Given the description of an element on the screen output the (x, y) to click on. 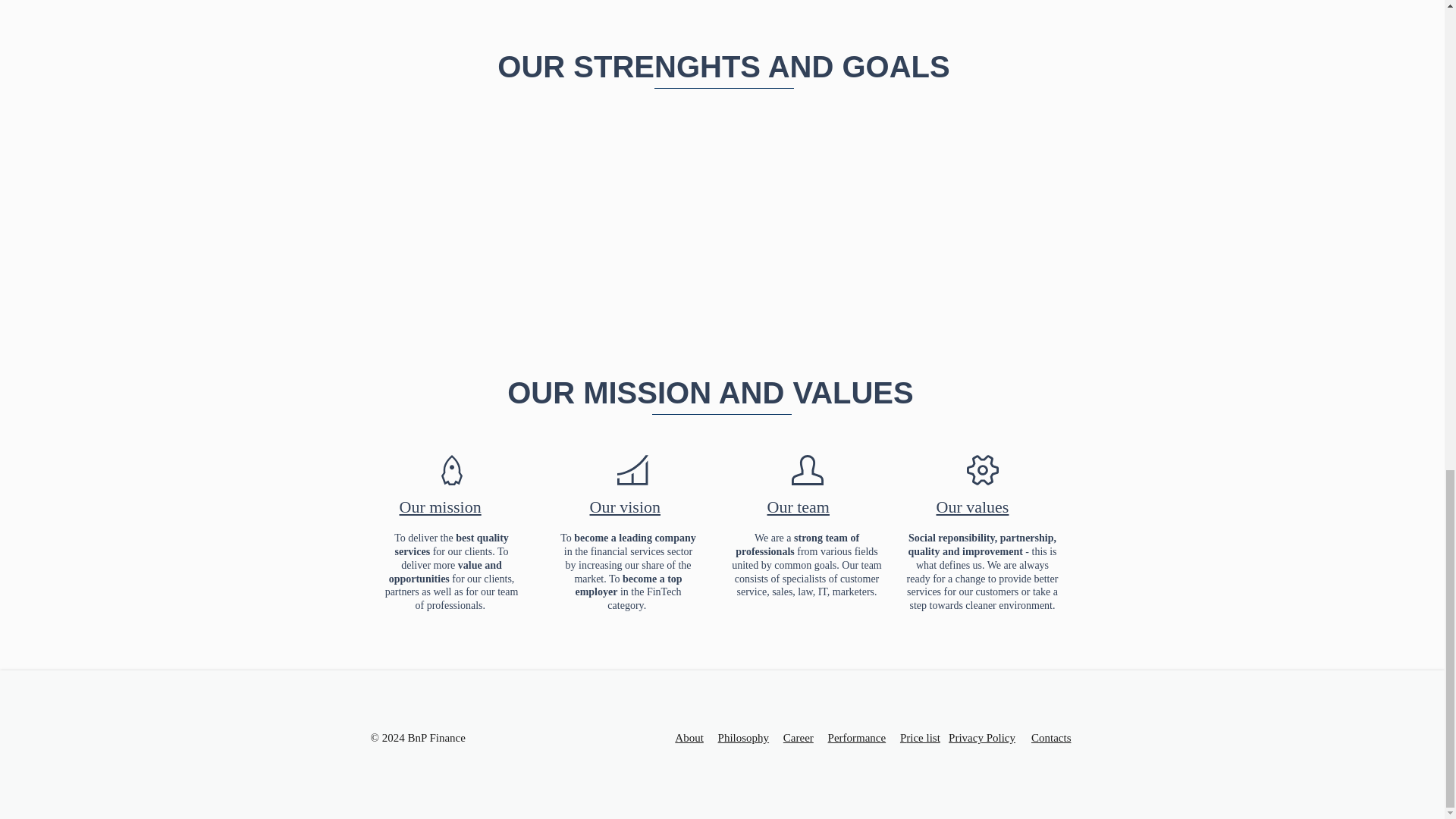
Performance  (863, 737)
Career (798, 737)
Contacts (1050, 737)
About  (696, 737)
Philosophy (743, 737)
Privacy Policy (981, 737)
